Given the description of an element on the screen output the (x, y) to click on. 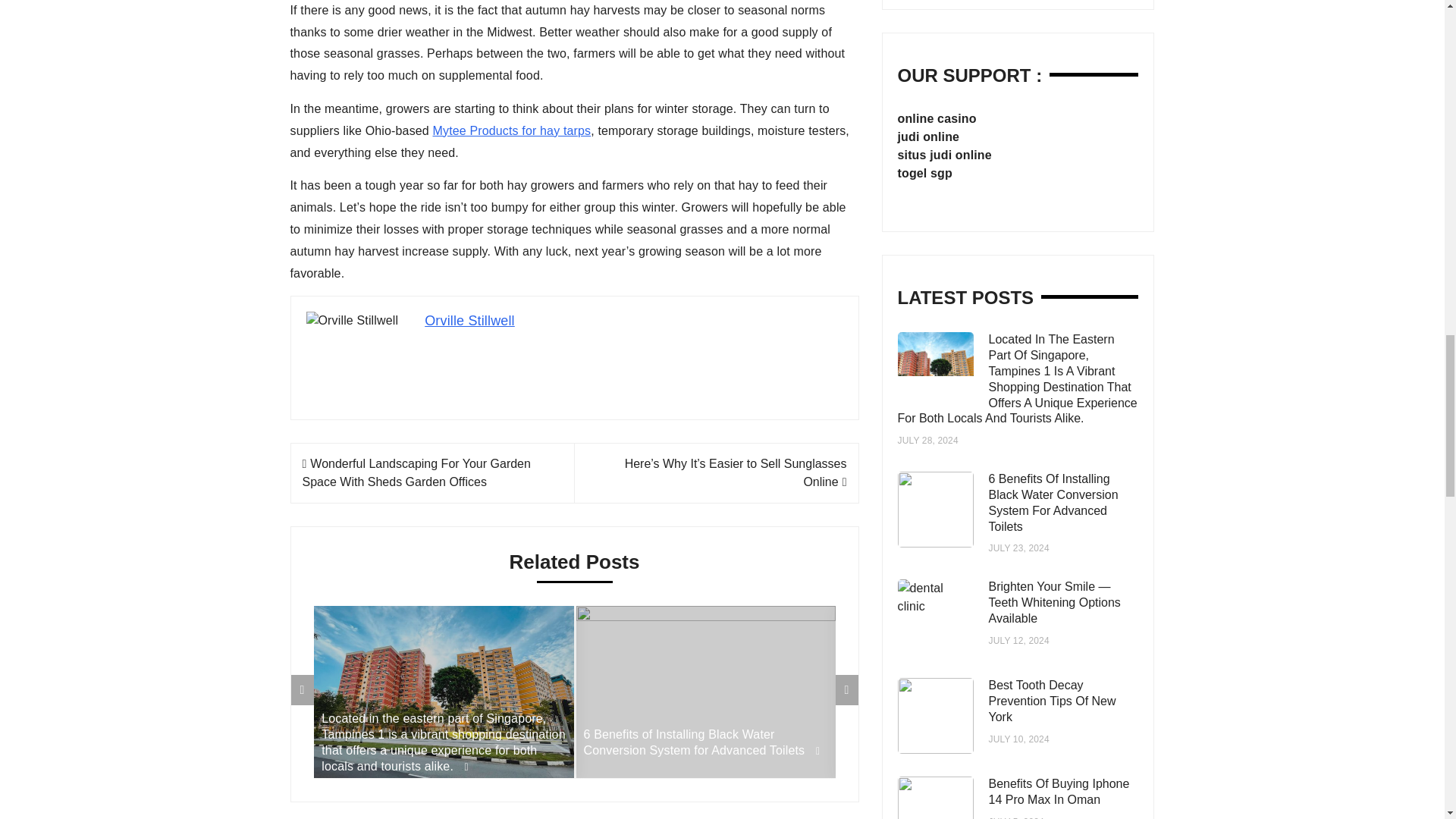
Orville Stillwell (470, 320)
Mytee Products for hay tarps (511, 130)
